Given the description of an element on the screen output the (x, y) to click on. 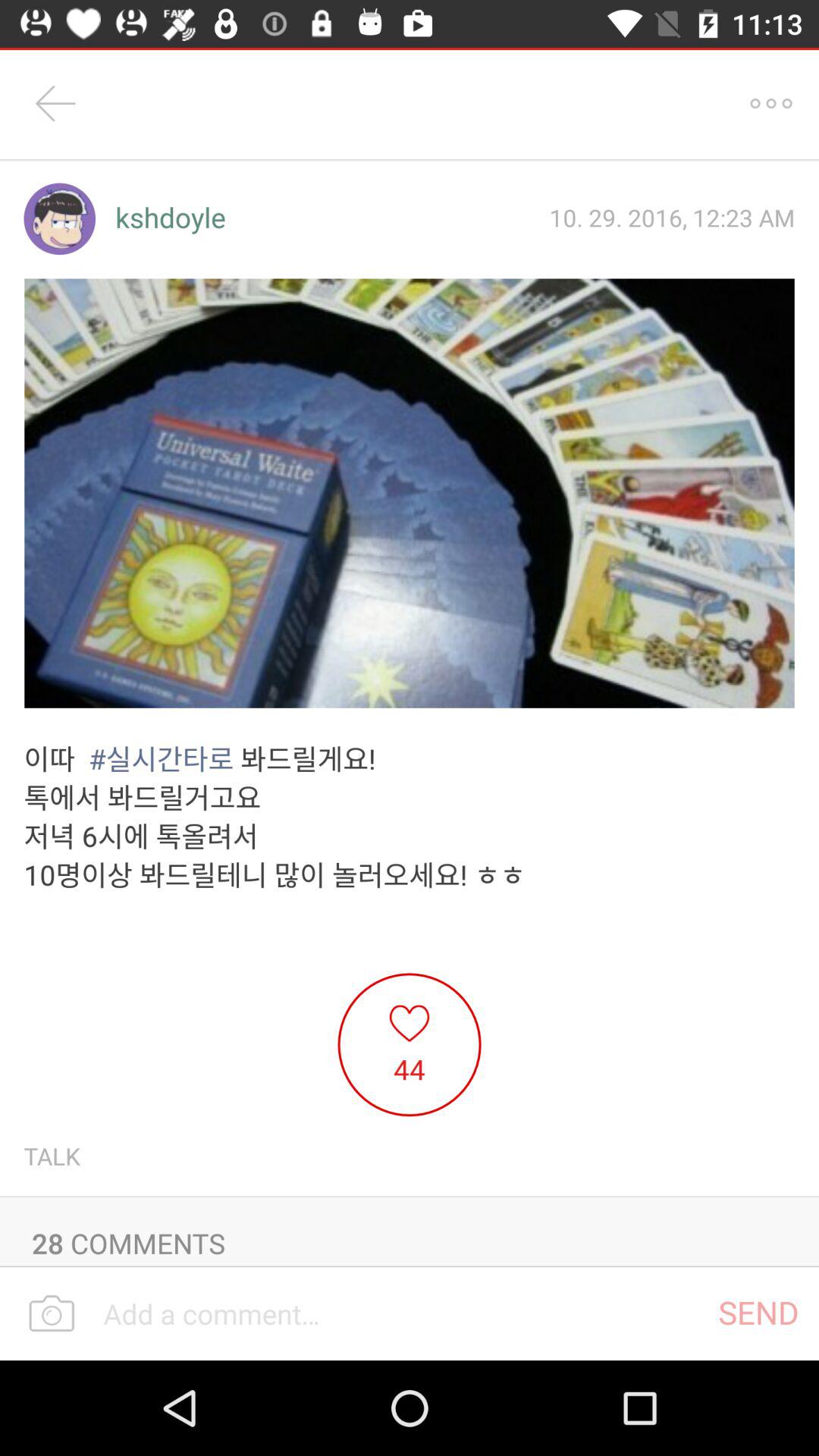
turn off item next to the kshdoyle icon (59, 218)
